Given the description of an element on the screen output the (x, y) to click on. 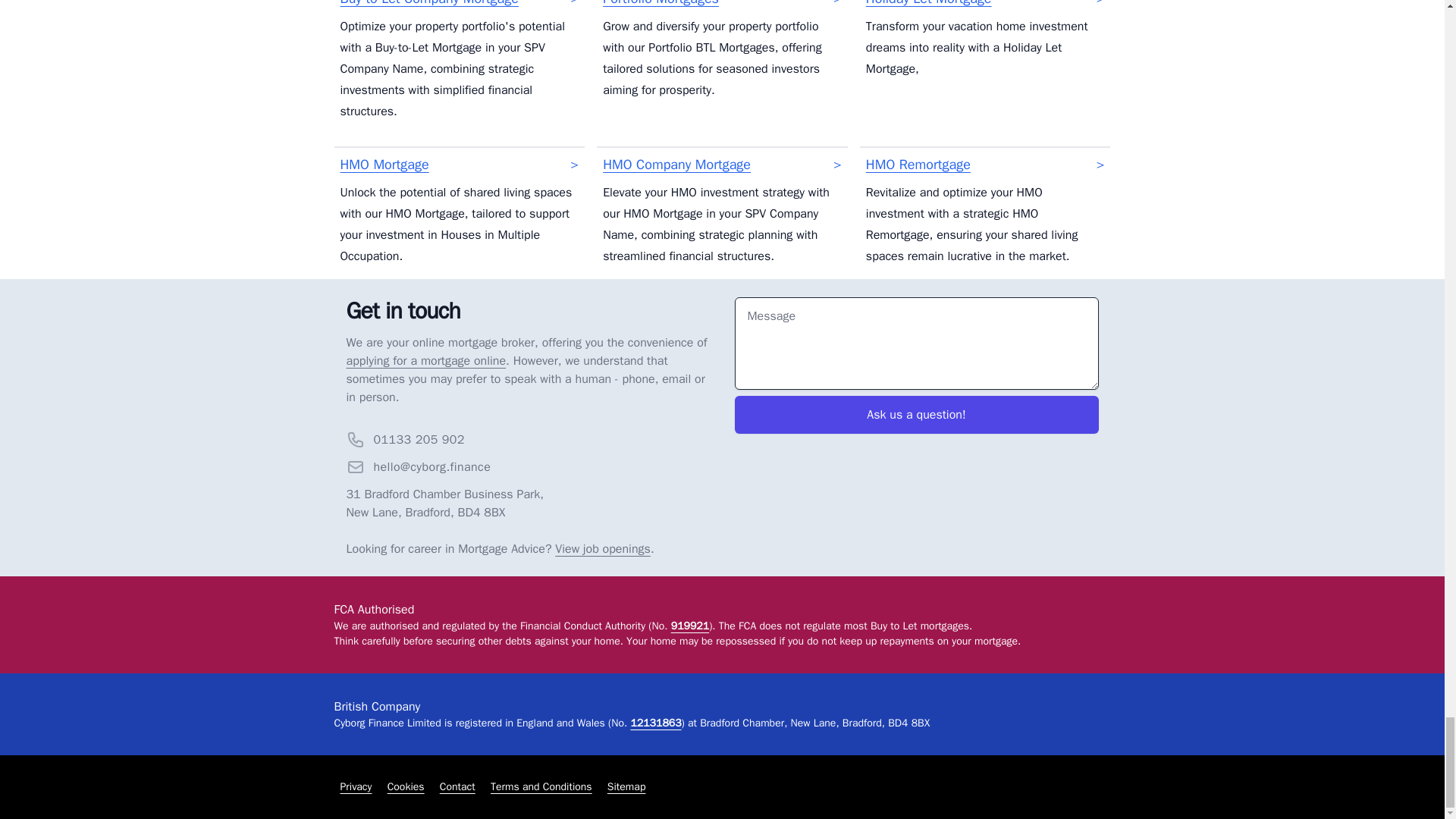
919921 (690, 625)
applying for a mortgage online (425, 360)
Privacy (355, 786)
12131863 (655, 722)
01133 205 902 (418, 439)
Ask us a question! (915, 414)
View job openings (602, 548)
